Given the description of an element on the screen output the (x, y) to click on. 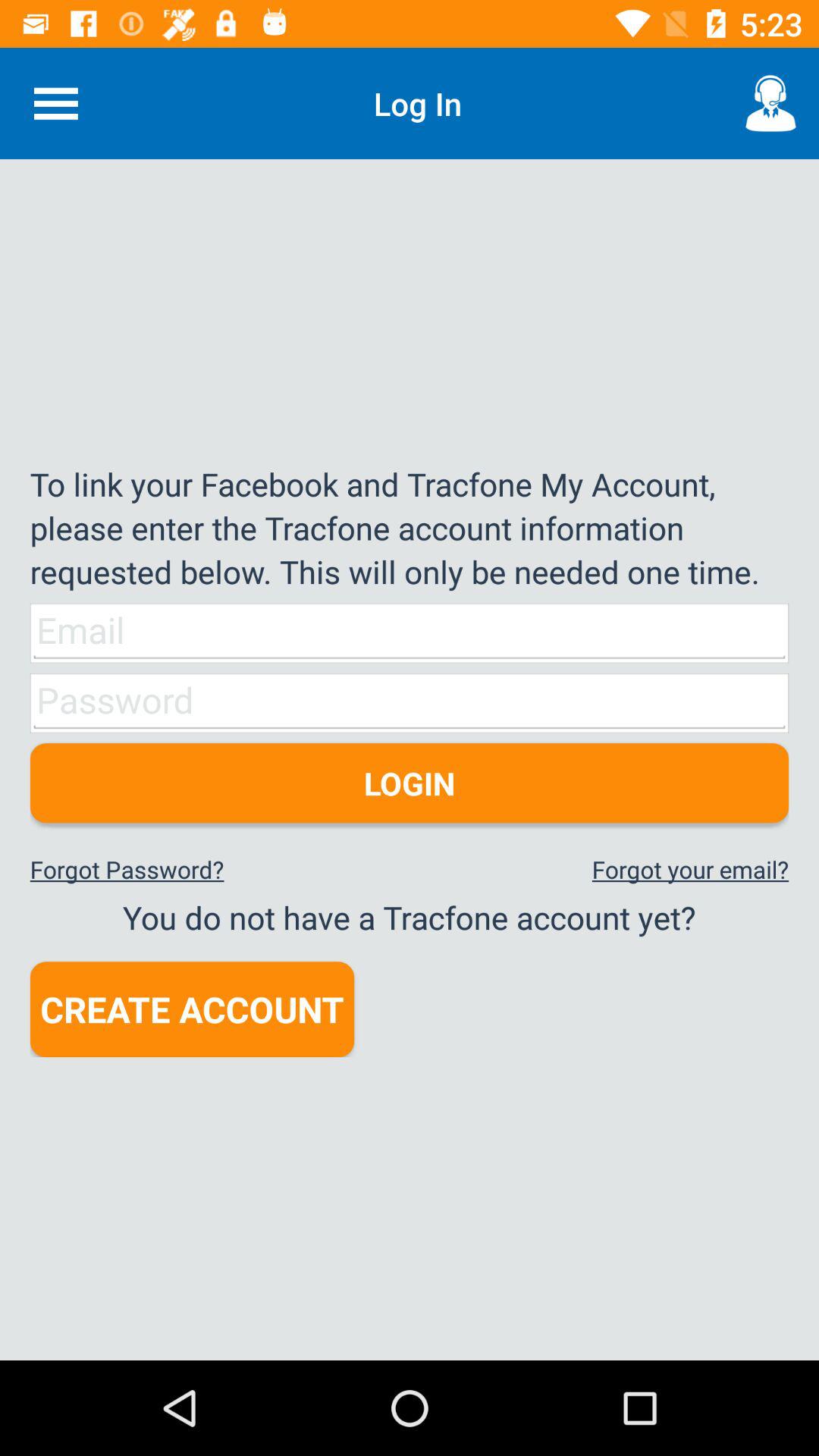
turn on item next to forgot password? (690, 869)
